Given the description of an element on the screen output the (x, y) to click on. 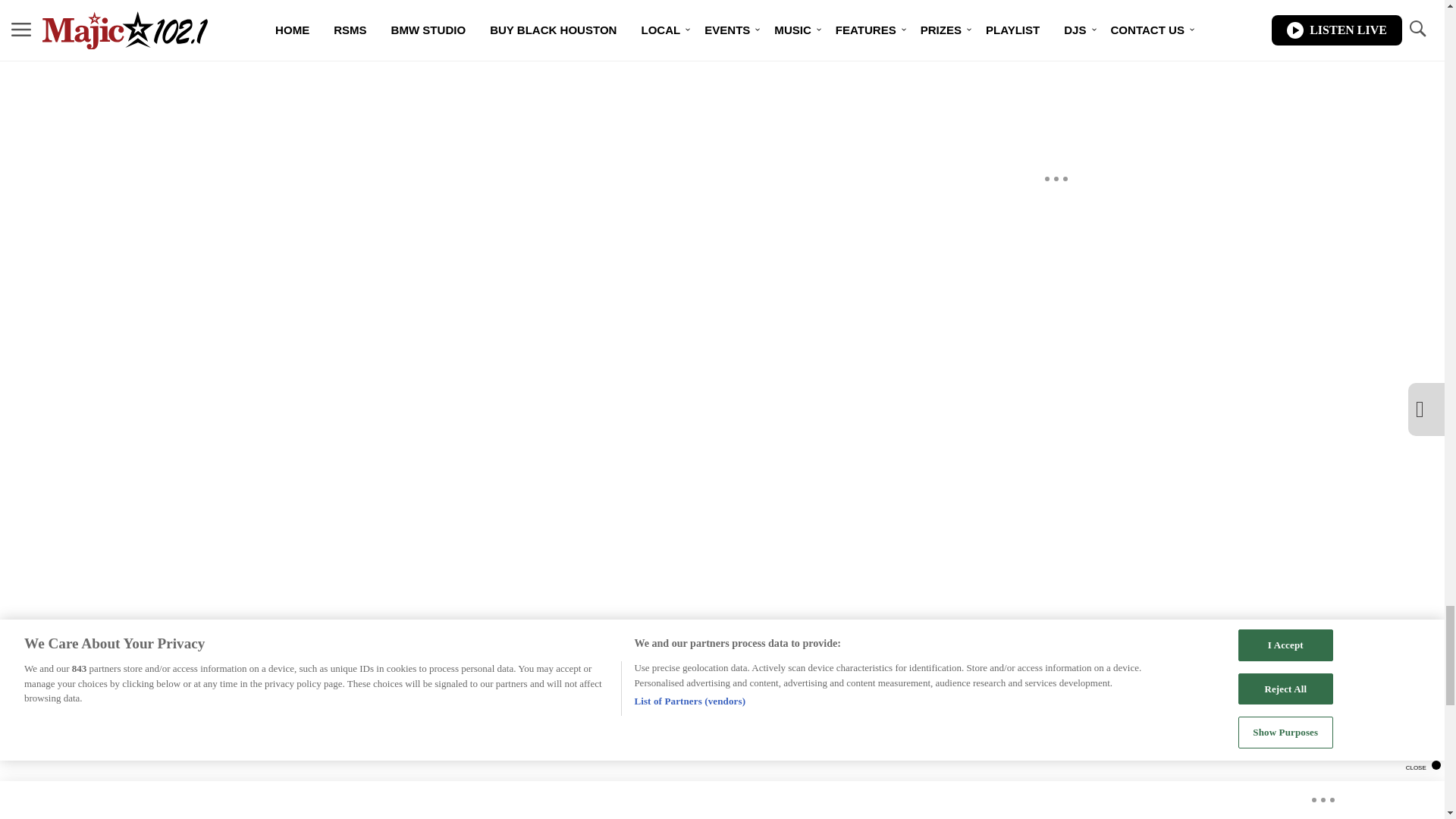
Vuukle Comments Widget (585, 71)
